Given the description of an element on the screen output the (x, y) to click on. 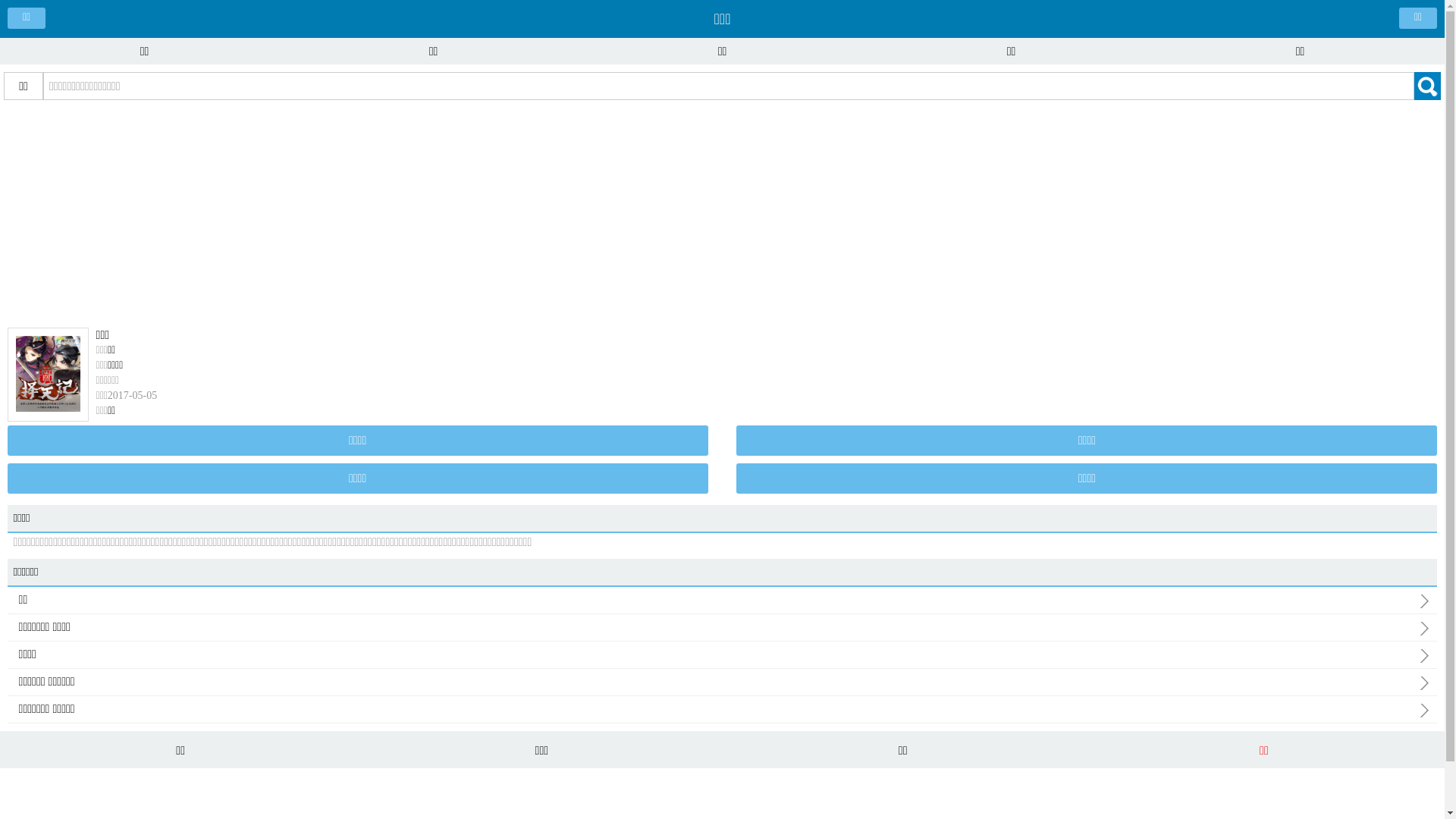
Advertisement Element type: hover (721, 213)
